Given the description of an element on the screen output the (x, y) to click on. 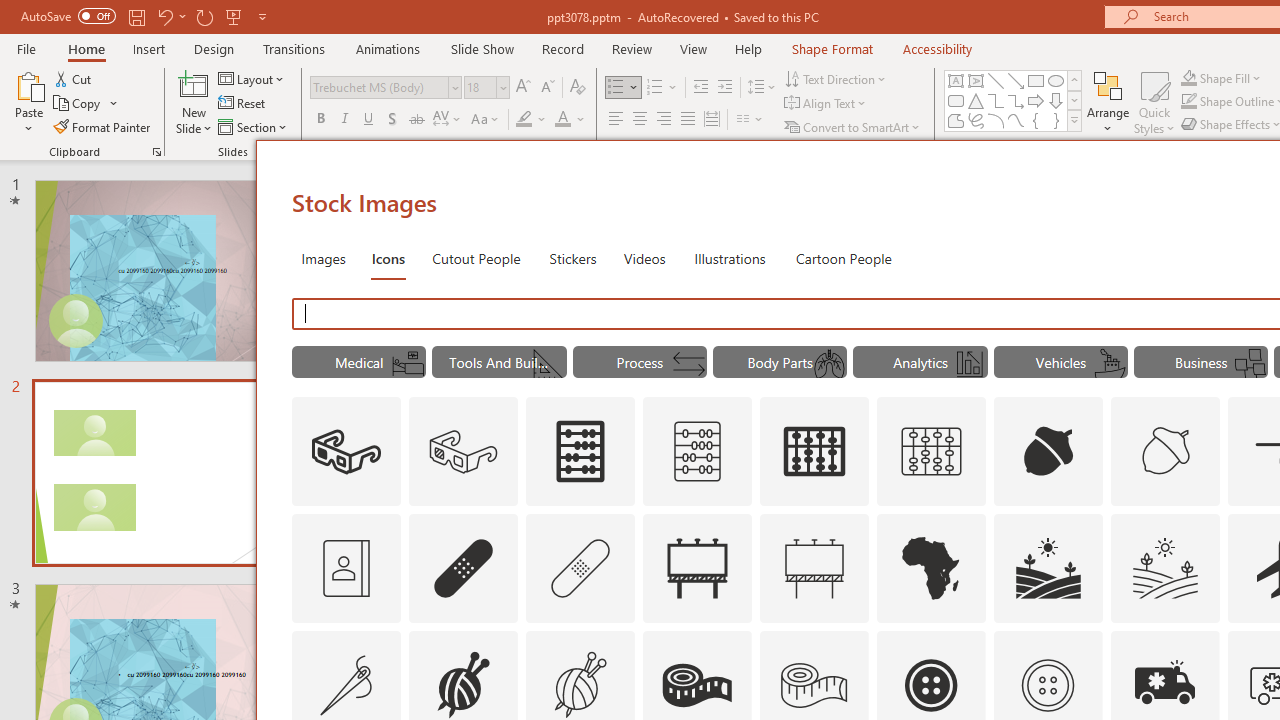
AutomationID: Icons_Transfer_M (688, 364)
AutomationID: Icons_Africa (931, 568)
AutomationID: Icons_Agriculture (1048, 568)
AutomationID: Icons_Advertising_M (815, 568)
